Given the description of an element on the screen output the (x, y) to click on. 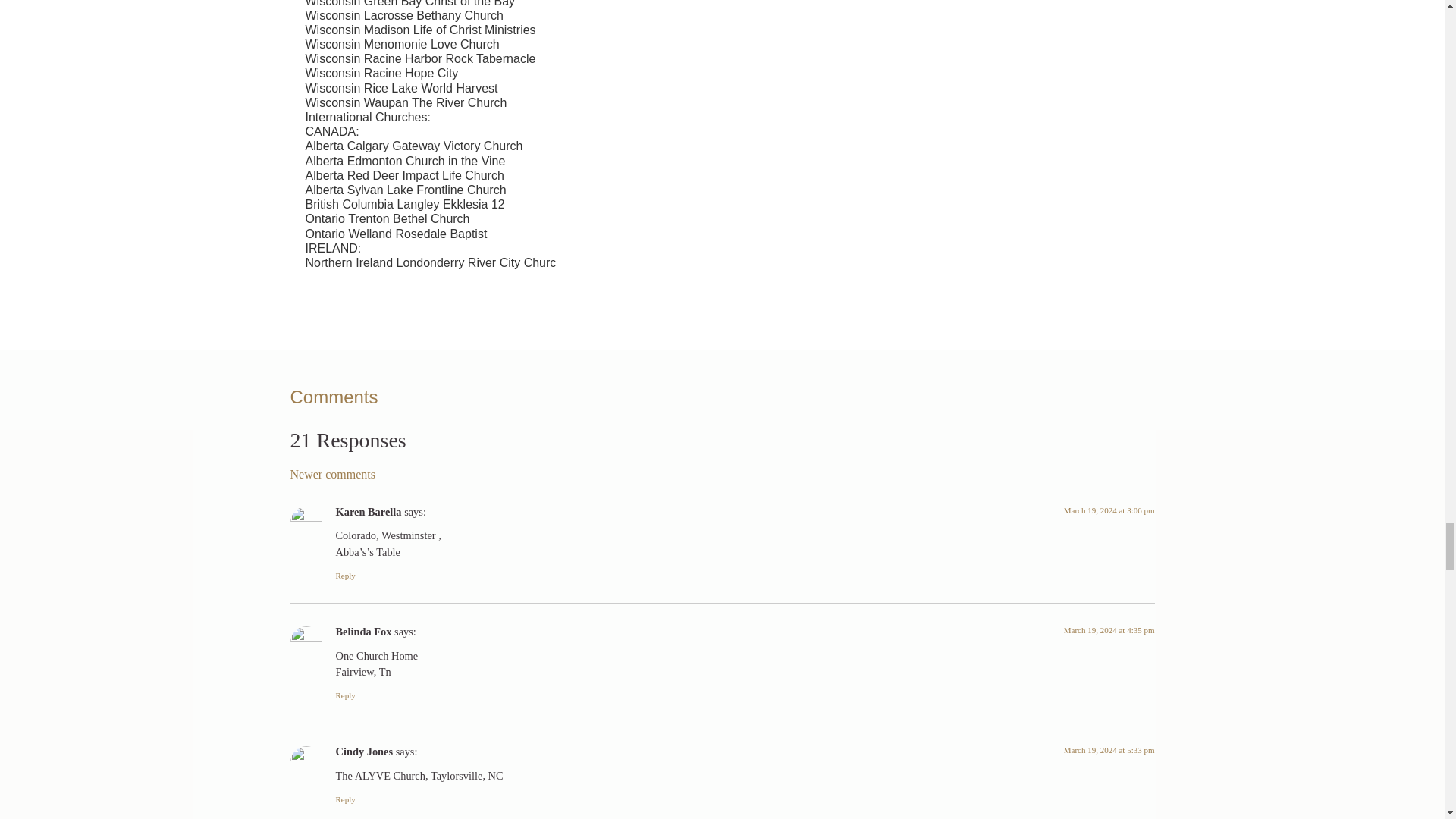
Newer comments (331, 473)
March 19, 2024 at 4:35 pm (1109, 629)
Reply (344, 574)
March 19, 2024 at 5:33 pm (1109, 749)
March 19, 2024 at 3:06 pm (1109, 510)
Reply (344, 695)
